Given the description of an element on the screen output the (x, y) to click on. 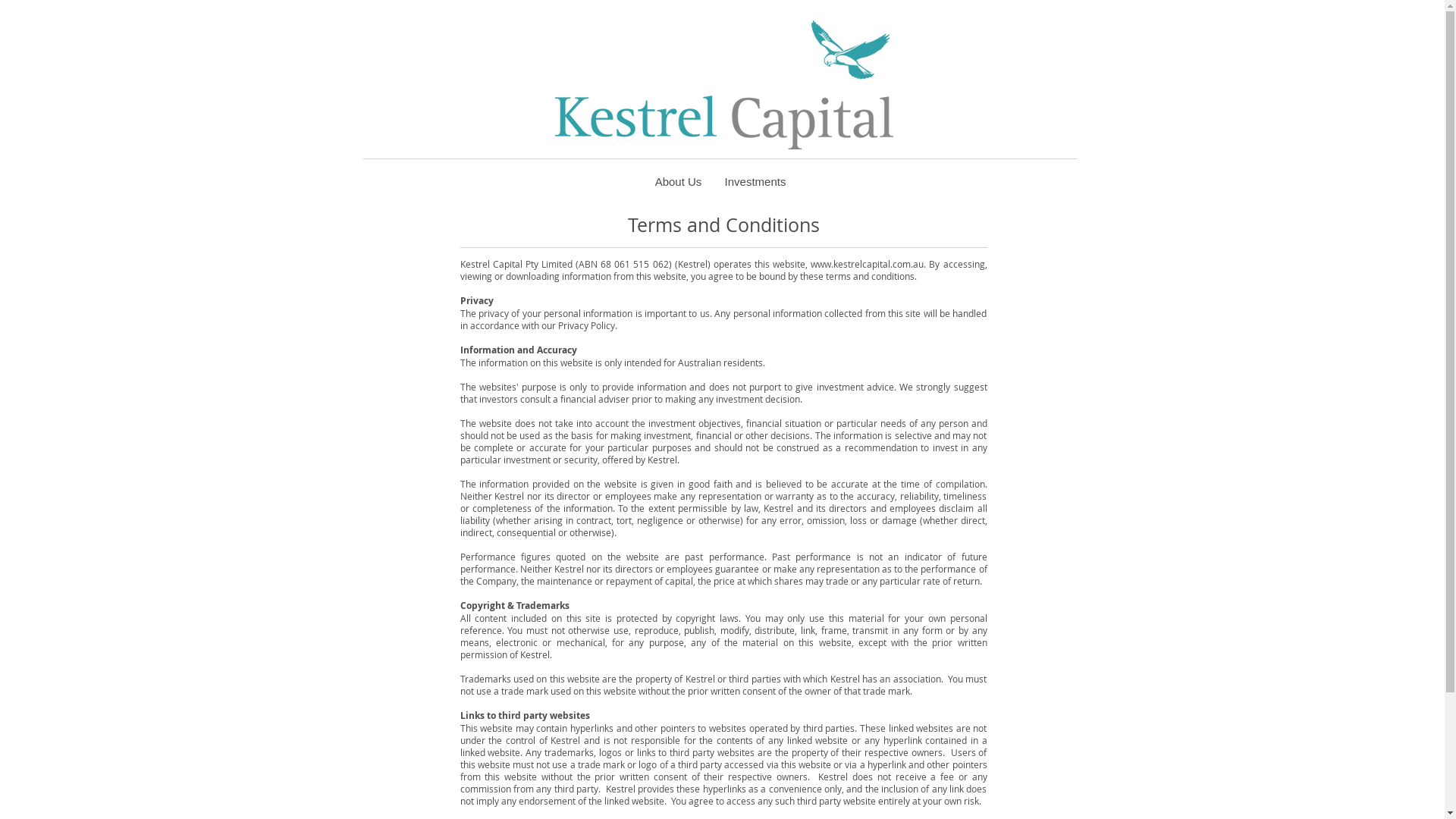
Investments Element type: text (754, 181)
www.kestrelcapital.com.au Element type: text (866, 263)
Kestrel Capital Header Element type: hover (724, 84)
About Us Element type: text (677, 181)
